Given the description of an element on the screen output the (x, y) to click on. 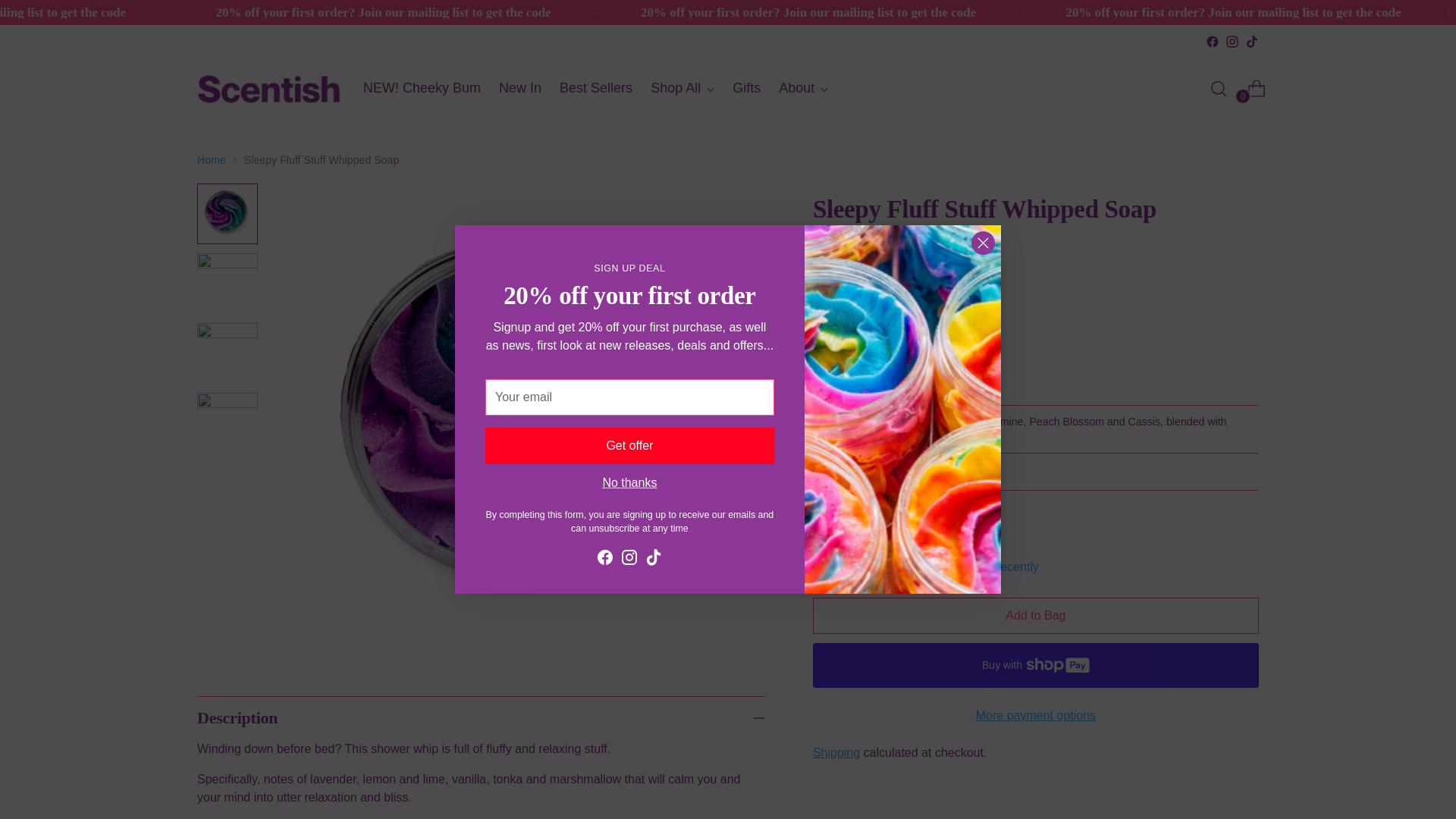
Best Sellers (595, 88)
5 Stars - 4 Reviews (595, 88)
Scentish on Instagram (1035, 274)
1 (1232, 41)
New In (849, 357)
Shop All (520, 88)
Scentish on Facebook (682, 88)
Scentish on Tiktok (1212, 41)
NEW! Cheeky Bum (1251, 41)
